Given the description of an element on the screen output the (x, y) to click on. 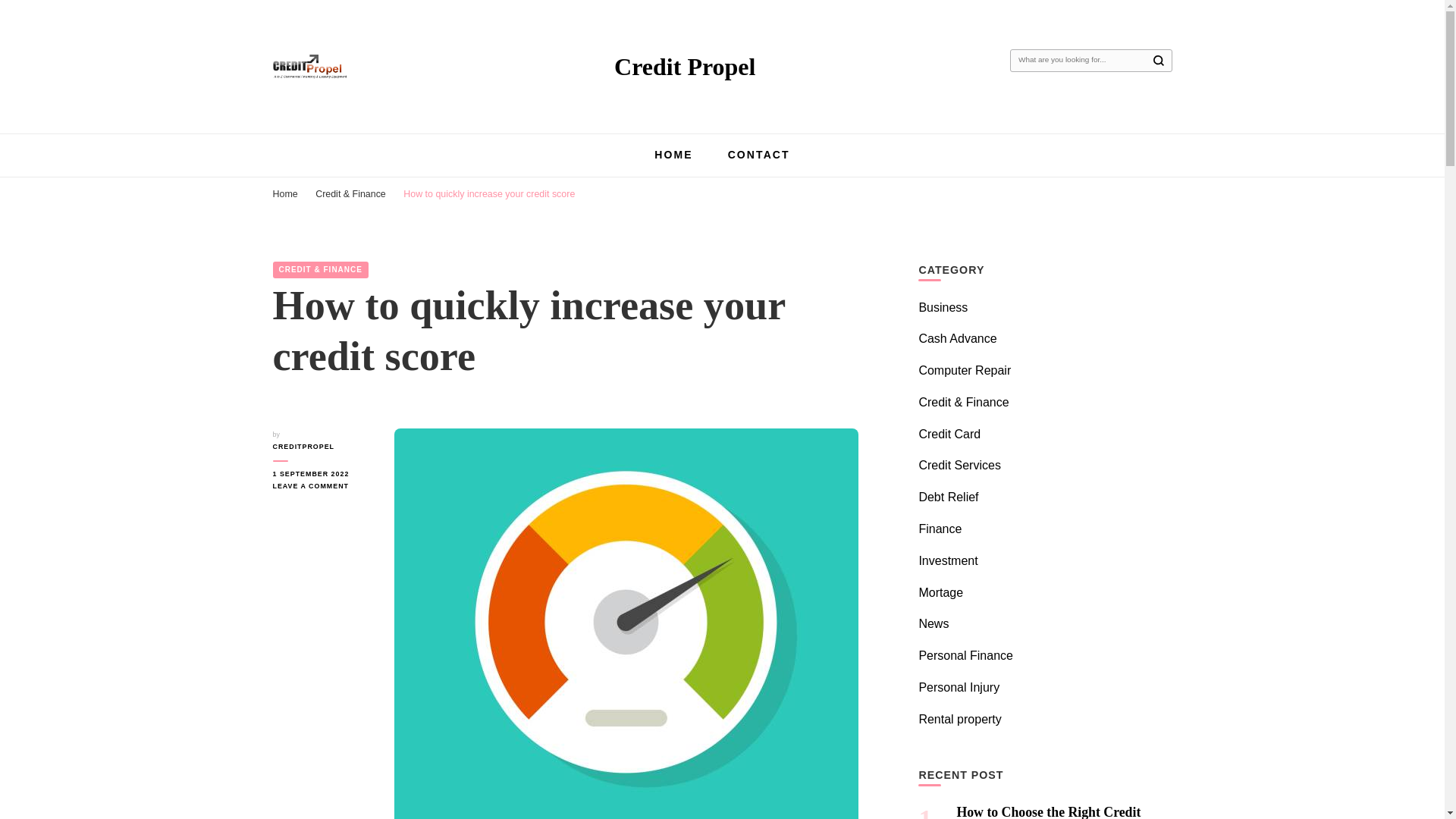
Business (943, 307)
News (933, 623)
How to quickly increase your credit score (489, 194)
Credit Card (948, 433)
HOME (673, 154)
Personal Injury (958, 686)
Computer Repair (964, 369)
CREDITPROPEL (322, 446)
Search (1158, 60)
Home (285, 194)
